Given the description of an element on the screen output the (x, y) to click on. 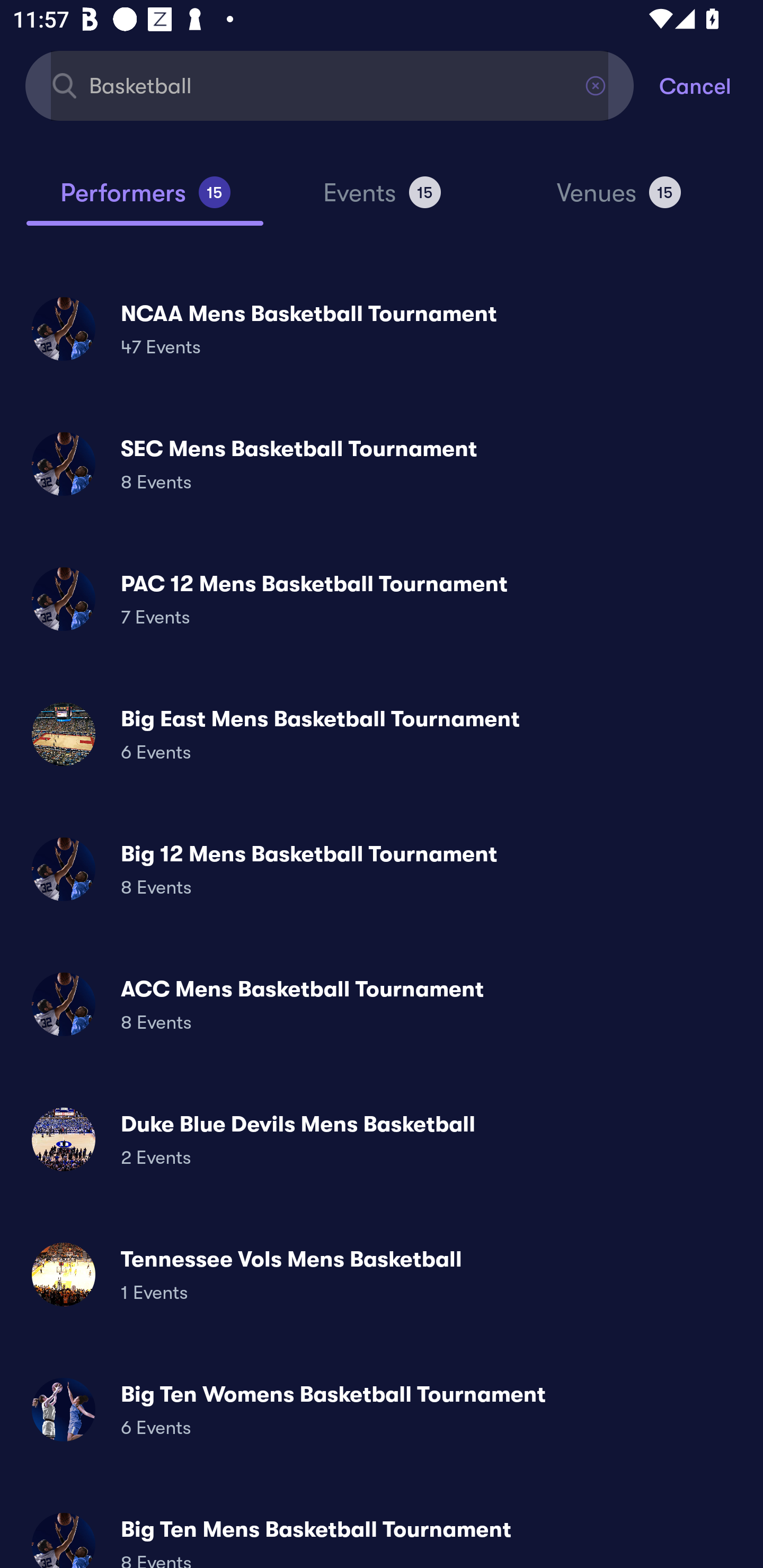
Basketball Find (329, 85)
Basketball Find (329, 85)
Cancel (711, 85)
Performers 15 (144, 200)
Events 15 (381, 200)
Venues 15 (618, 200)
NCAA Mens Basketball Tournament 47 Events (381, 328)
SEC Mens Basketball Tournament 8 Events (381, 464)
PAC 12 Mens Basketball Tournament 7 Events (381, 598)
Big East Mens Basketball Tournament 6 Events (381, 734)
Big 12 Mens Basketball Tournament 8 Events (381, 869)
ACC Mens Basketball Tournament 8 Events (381, 1004)
Duke Blue Devils Mens Basketball 2 Events (381, 1138)
Tennessee Vols Mens Basketball 1 Events (381, 1273)
Big Ten Womens Basketball Tournament 6 Events (381, 1409)
Big Ten Mens Basketball Tournament 8 Events (381, 1532)
